Given the description of an element on the screen output the (x, y) to click on. 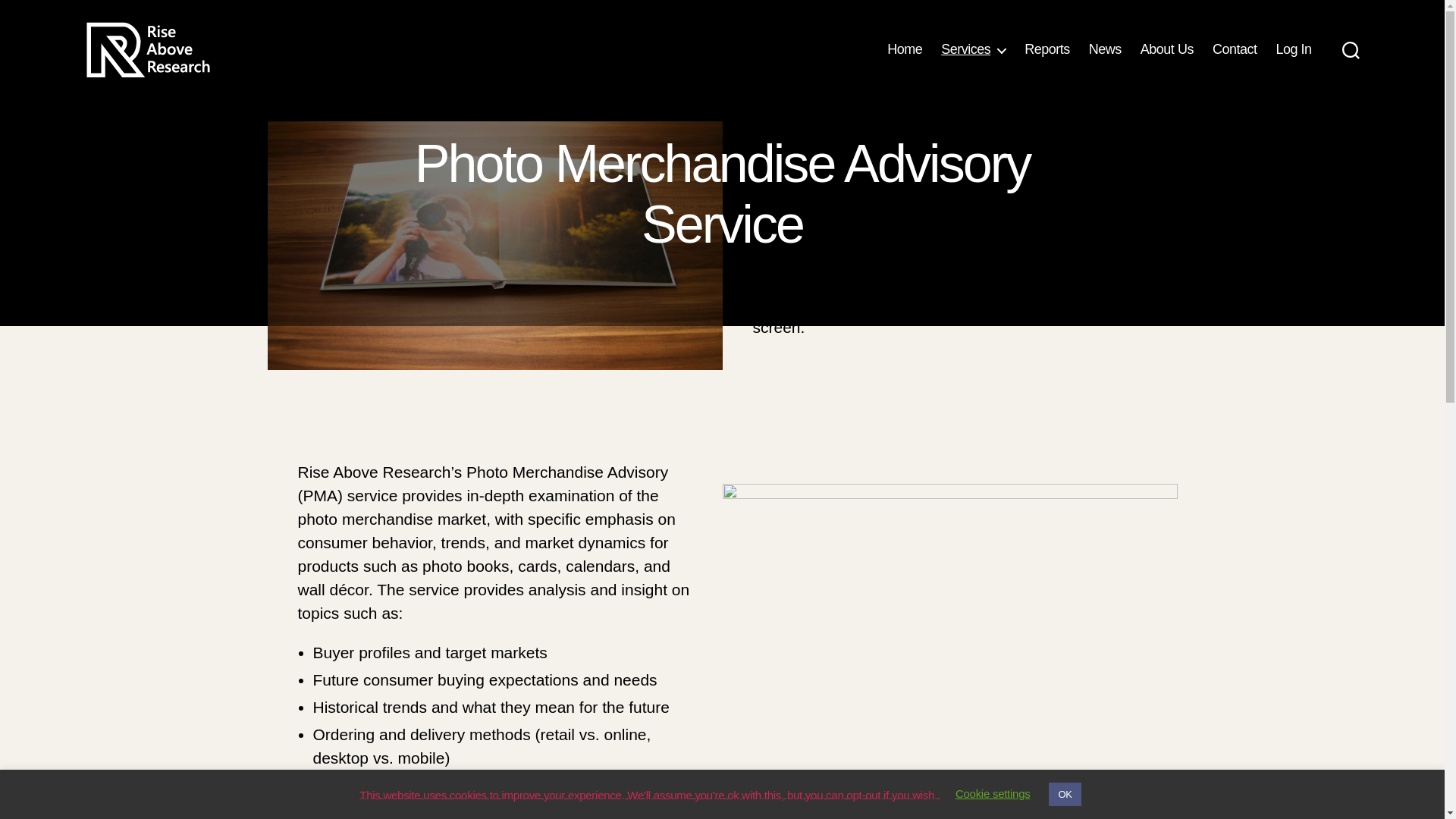
News (1105, 49)
Home (903, 49)
Cookie settings (992, 793)
Reports (1047, 49)
Log In (1293, 49)
Contact (1234, 49)
Services (973, 49)
About Us (1166, 49)
